Given the description of an element on the screen output the (x, y) to click on. 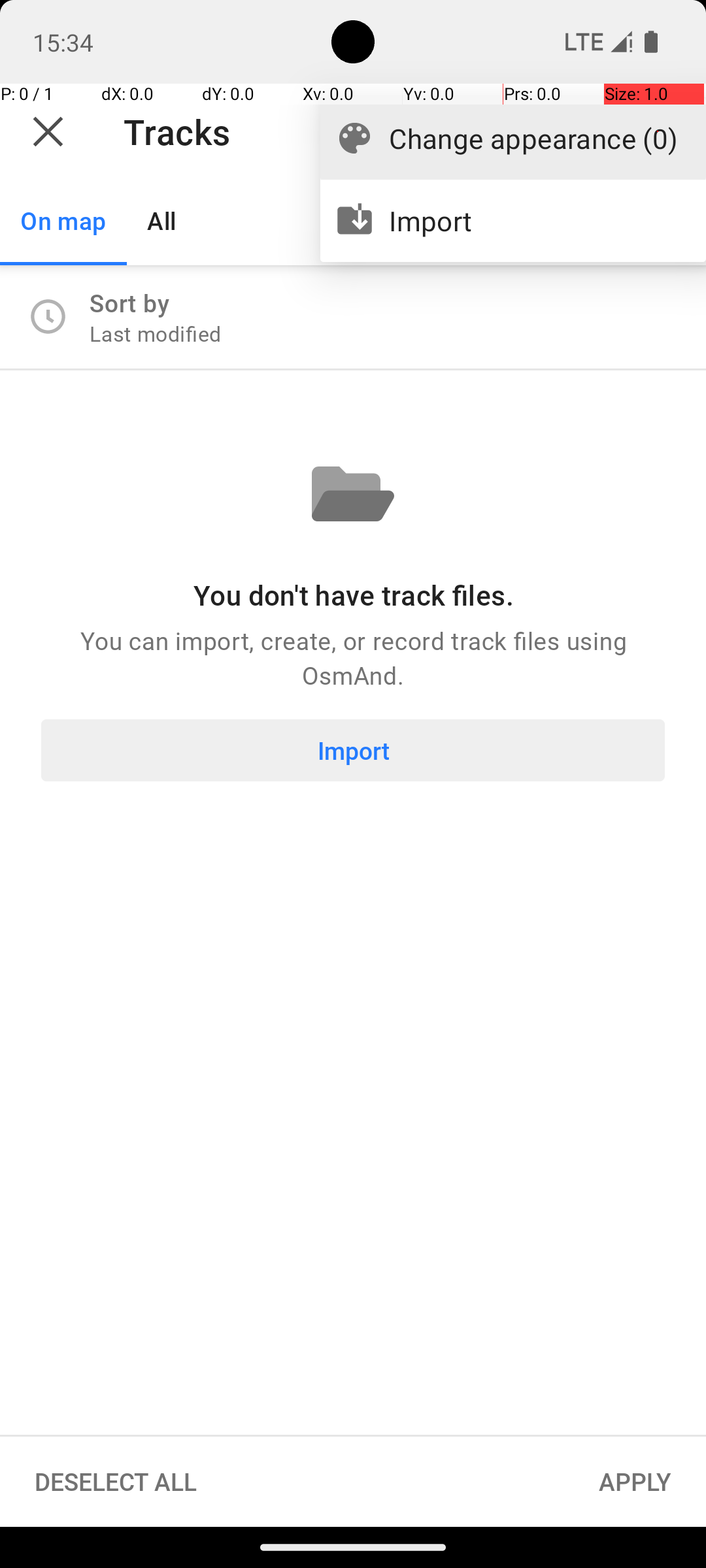
Change appearance (0) Element type: android.widget.TextView (533, 137)
Import Element type: android.widget.TextView (533, 220)
